Given the description of an element on the screen output the (x, y) to click on. 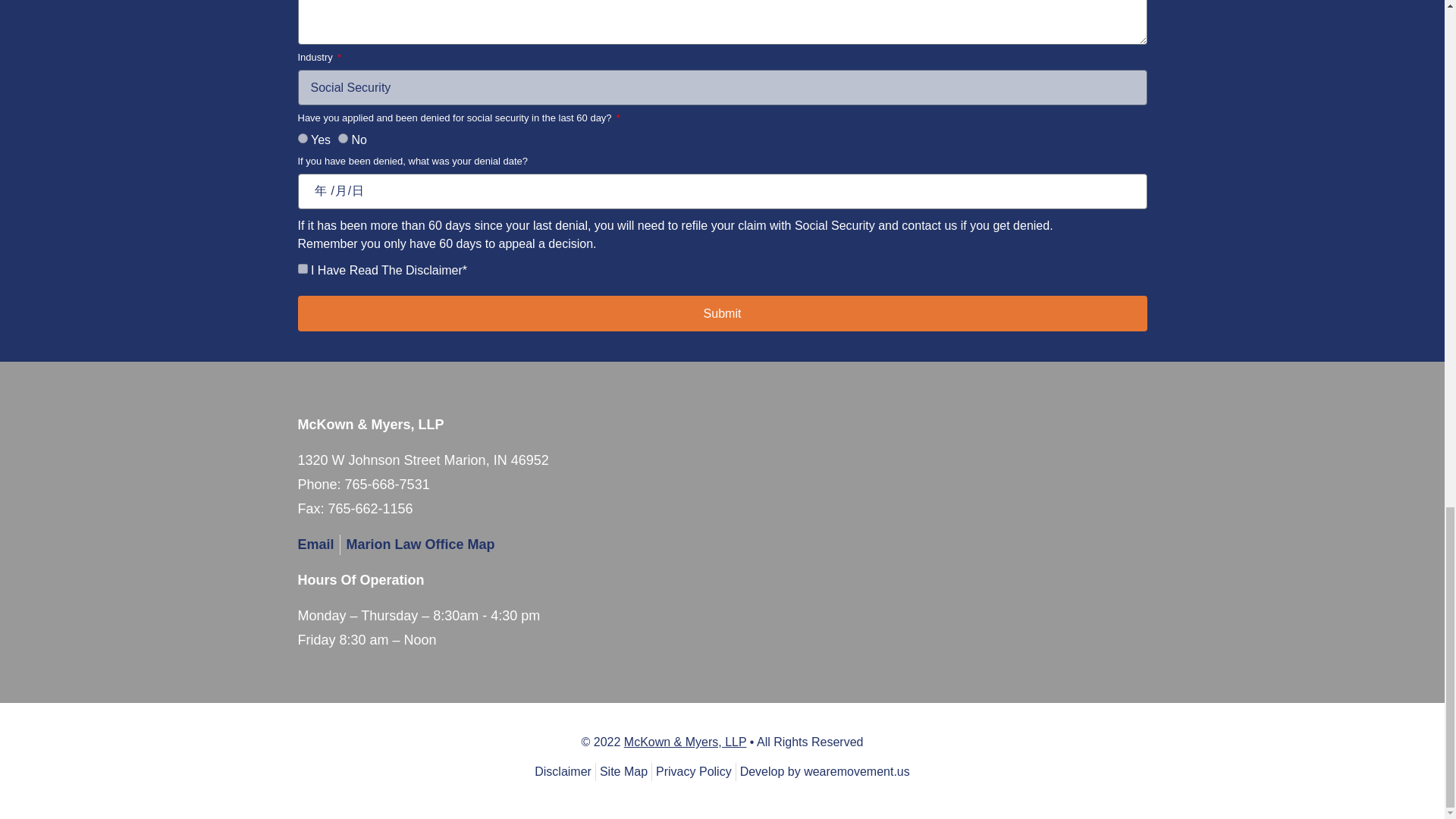
No (342, 138)
on (302, 268)
Yes (302, 138)
